Given the description of an element on the screen output the (x, y) to click on. 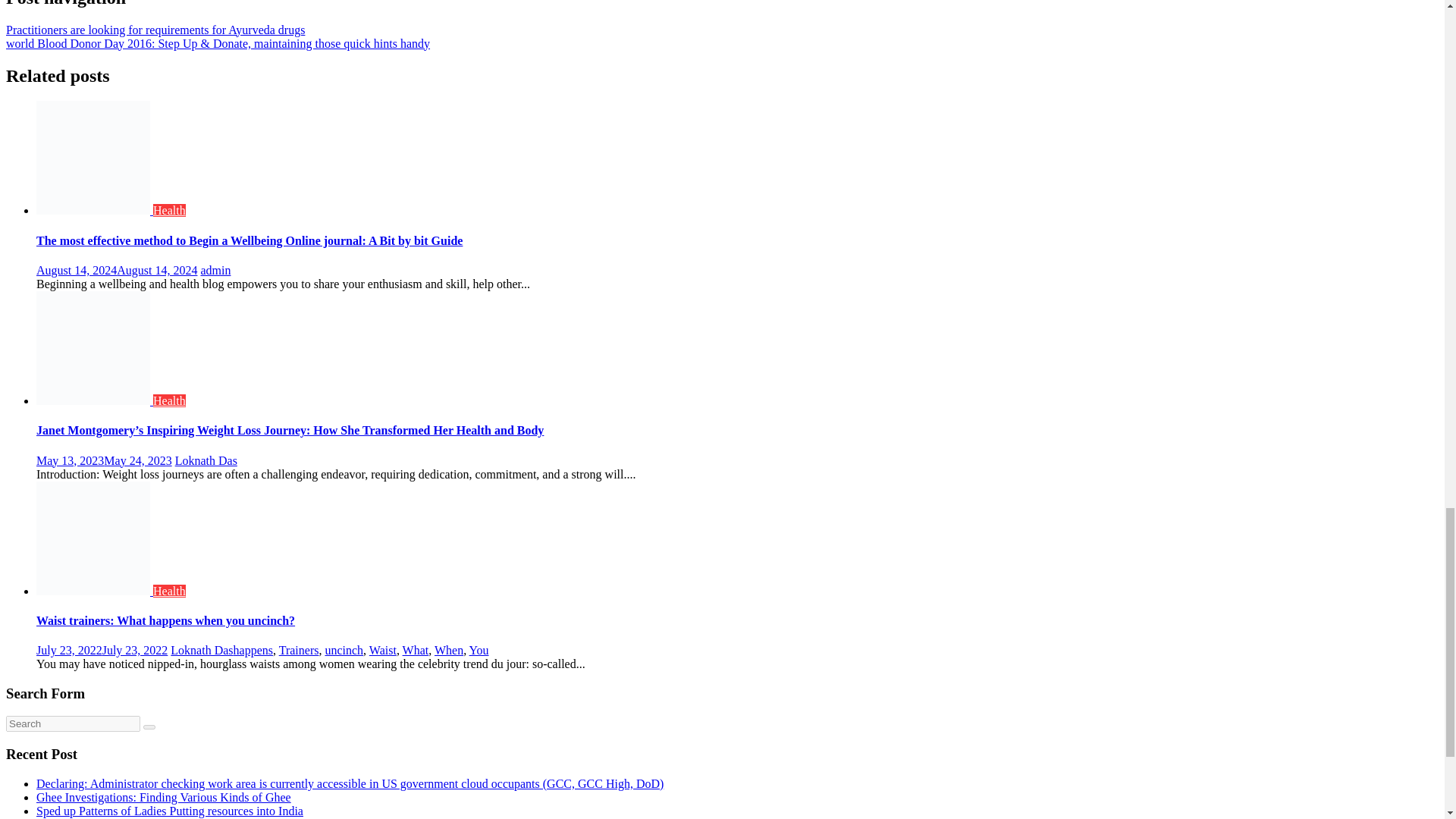
Health (169, 210)
August 14, 2024August 14, 2024 (116, 269)
